Given the description of an element on the screen output the (x, y) to click on. 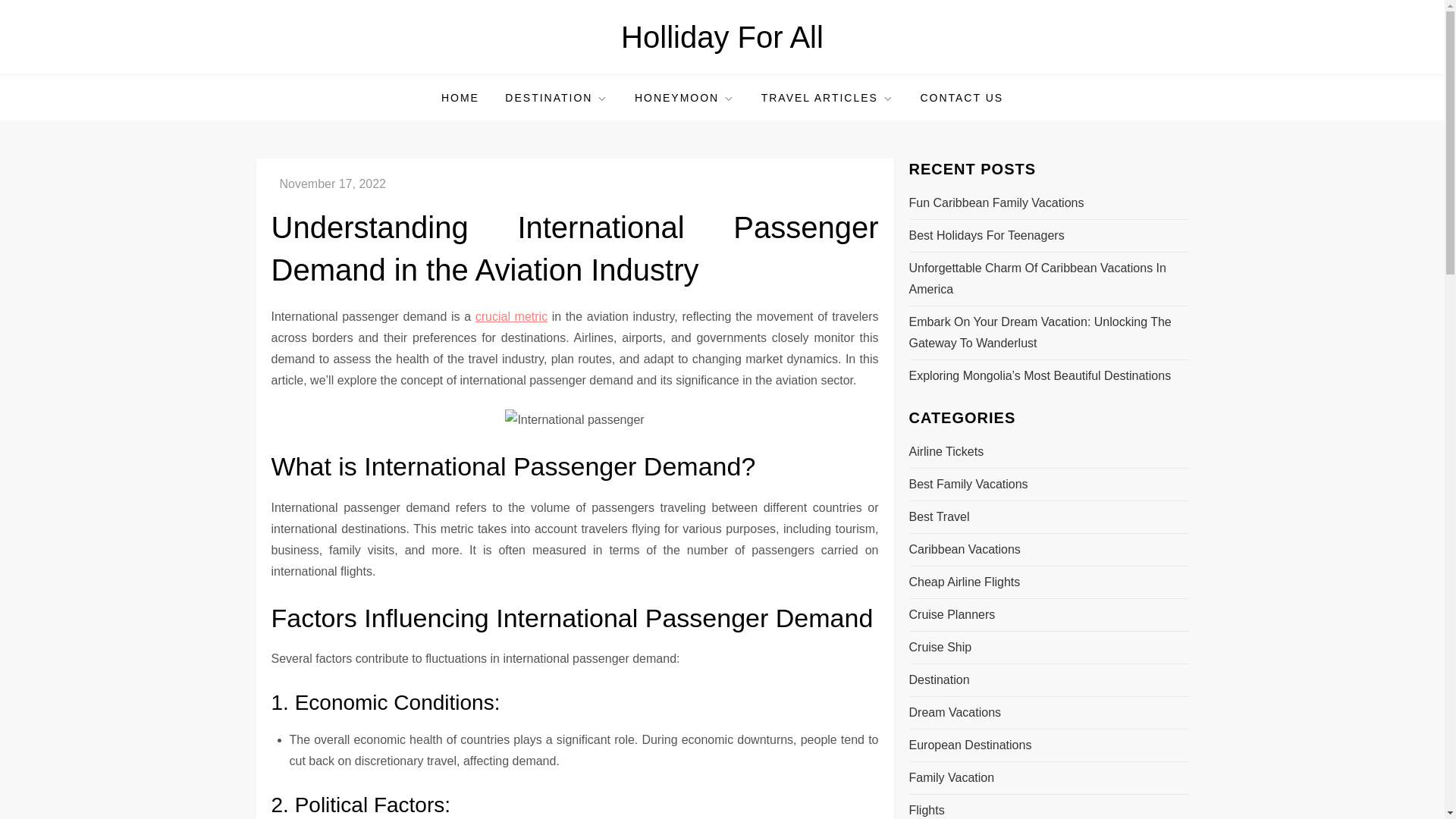
Caribbean Vacations (964, 549)
CONTACT US (961, 97)
Airline Tickets (946, 451)
HOME (459, 97)
Cruise Planners (951, 614)
Holliday For All (722, 37)
Fun Caribbean Family Vacations (995, 202)
Best Holidays For Teenagers (986, 235)
Best Family Vacations (967, 484)
HONEYMOON (684, 97)
TRAVEL ARTICLES (827, 97)
Best Travel (938, 516)
November 17, 2022 (332, 183)
Unforgettable Charm Of Caribbean Vacations In America (1048, 278)
